Given the description of an element on the screen output the (x, y) to click on. 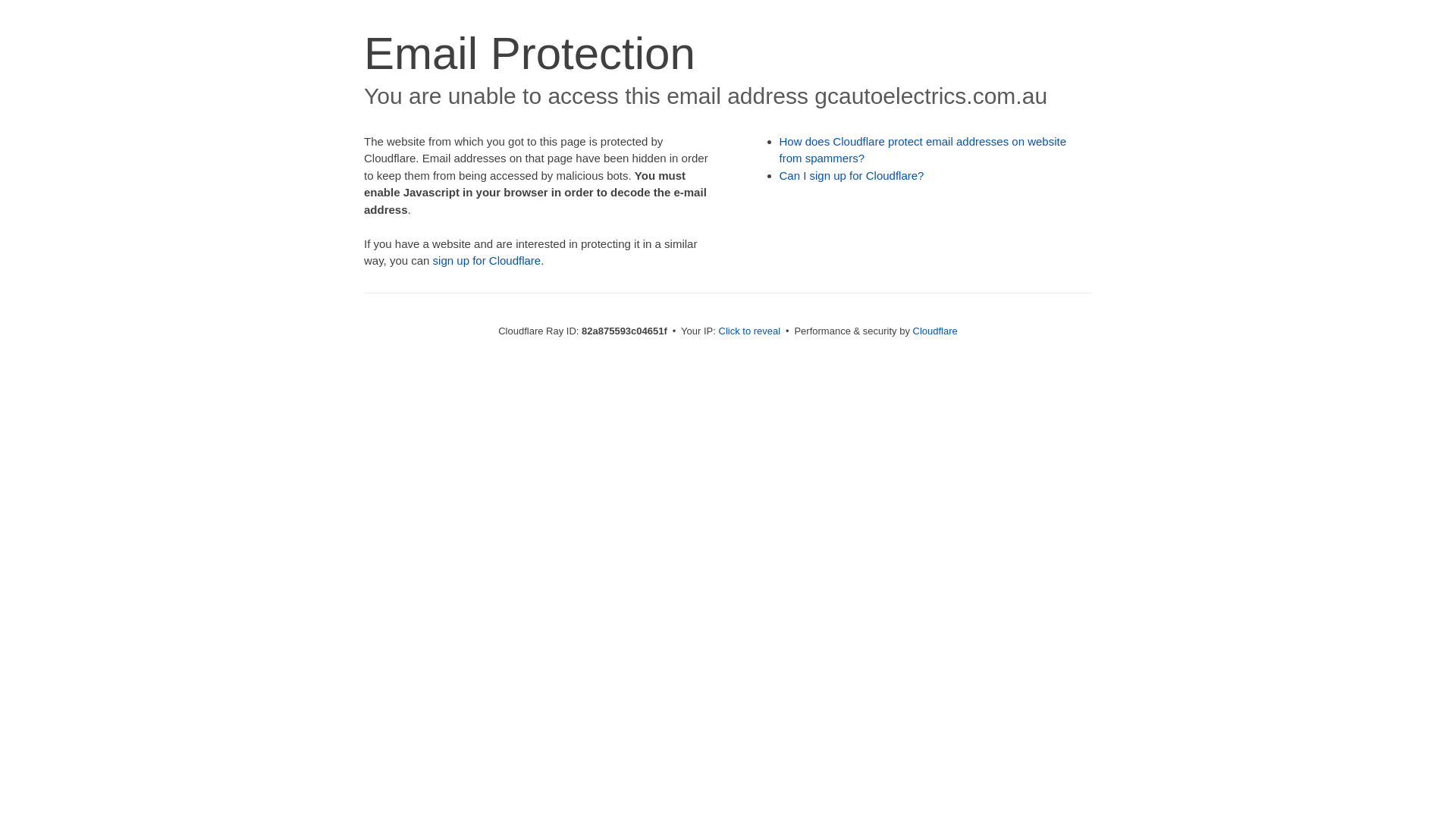
sign up for Cloudflare Element type: text (487, 260)
Cloudflare Element type: text (935, 330)
Can I sign up for Cloudflare? Element type: text (851, 175)
Click to reveal Element type: text (749, 330)
